Given the description of an element on the screen output the (x, y) to click on. 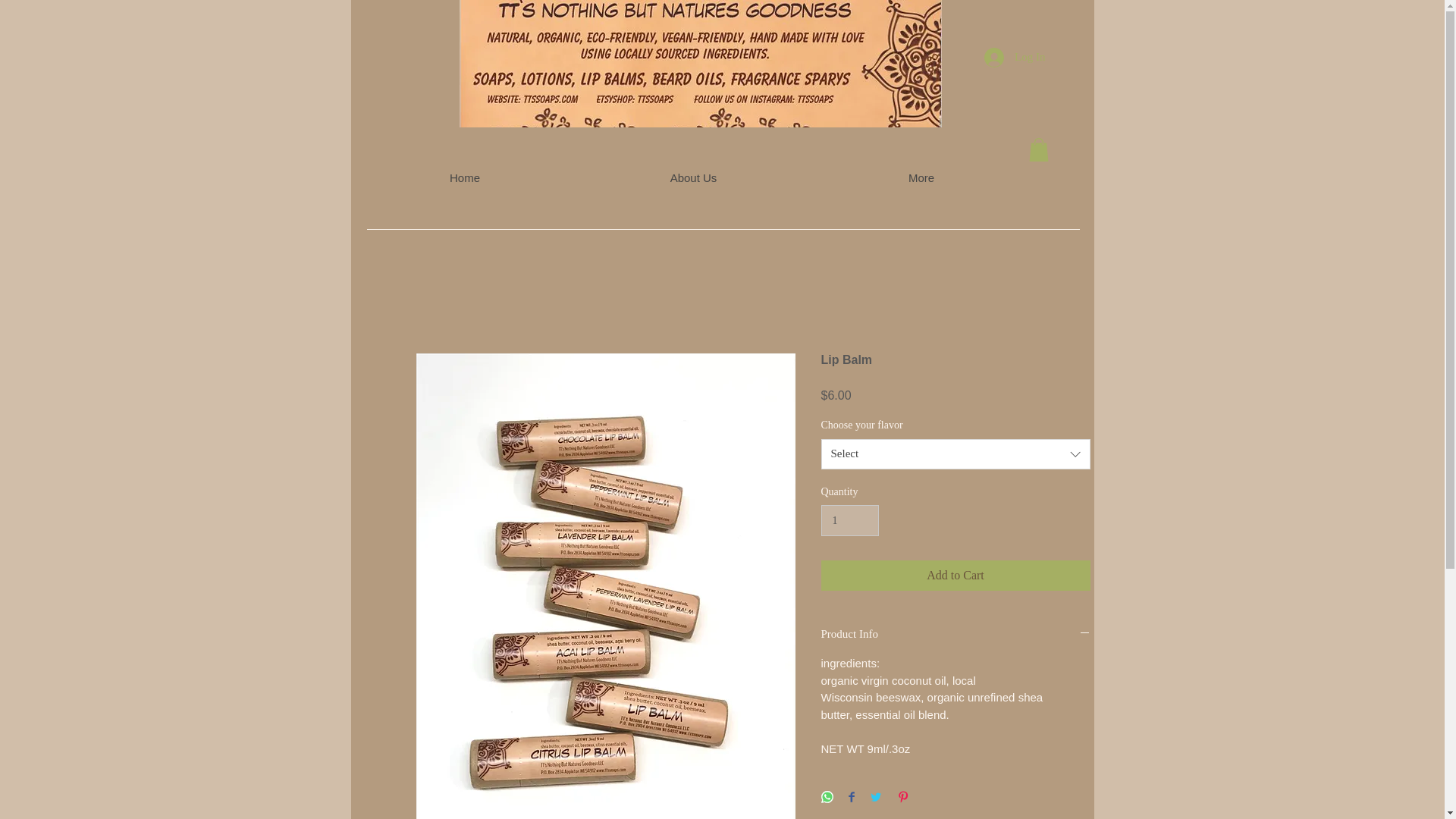
Product Info (955, 634)
Home (464, 178)
About Us (693, 178)
Select (955, 453)
Log In (1014, 57)
Add to Cart (955, 575)
1 (849, 520)
